Given the description of an element on the screen output the (x, y) to click on. 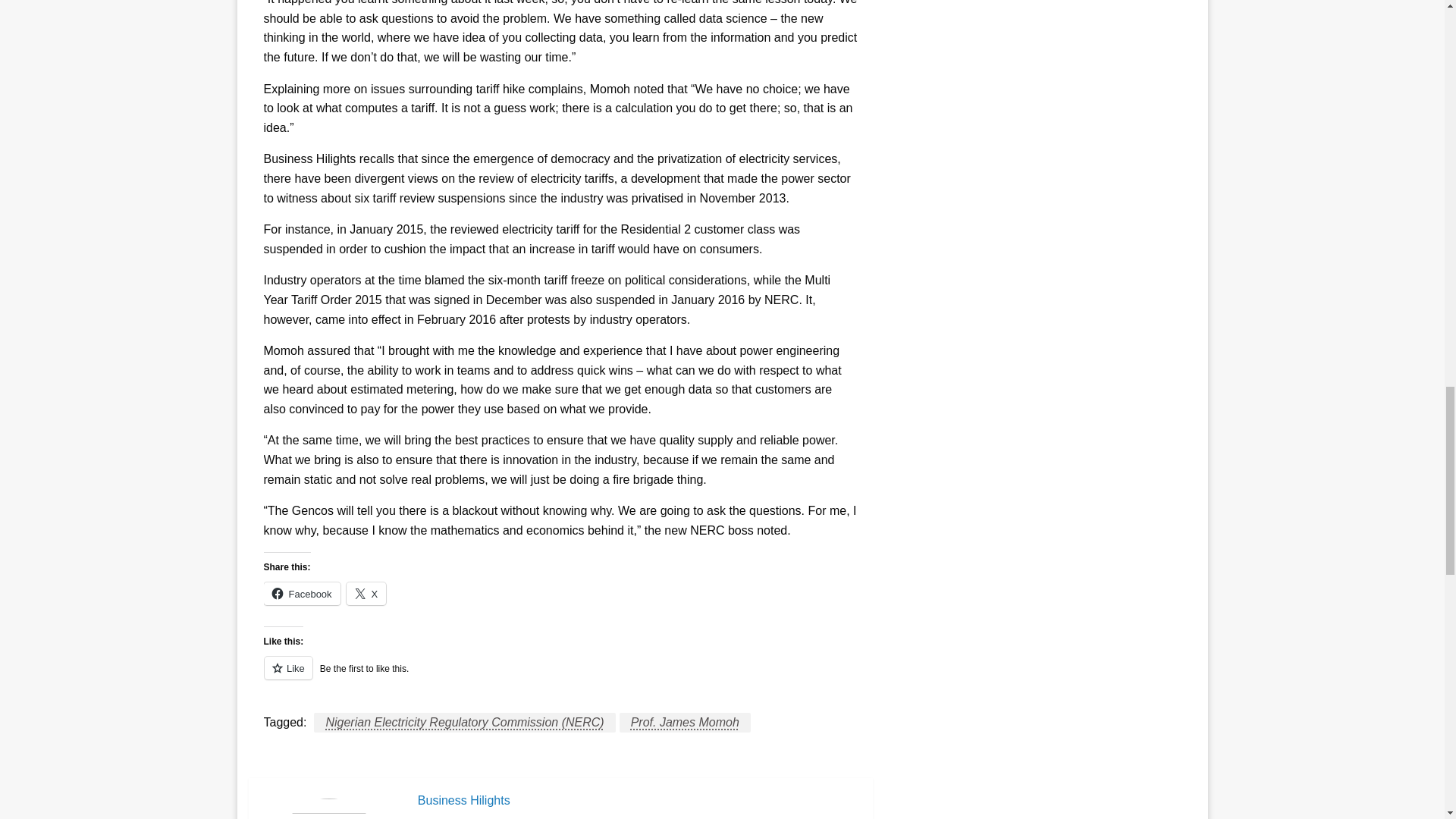
Prof. James Momoh (685, 722)
X (366, 593)
Business Hilights (637, 800)
Facebook (301, 593)
Click to share on Facebook (301, 593)
Like or Reblog (560, 676)
Business Hilights (637, 800)
Click to share on X (366, 593)
